Given the description of an element on the screen output the (x, y) to click on. 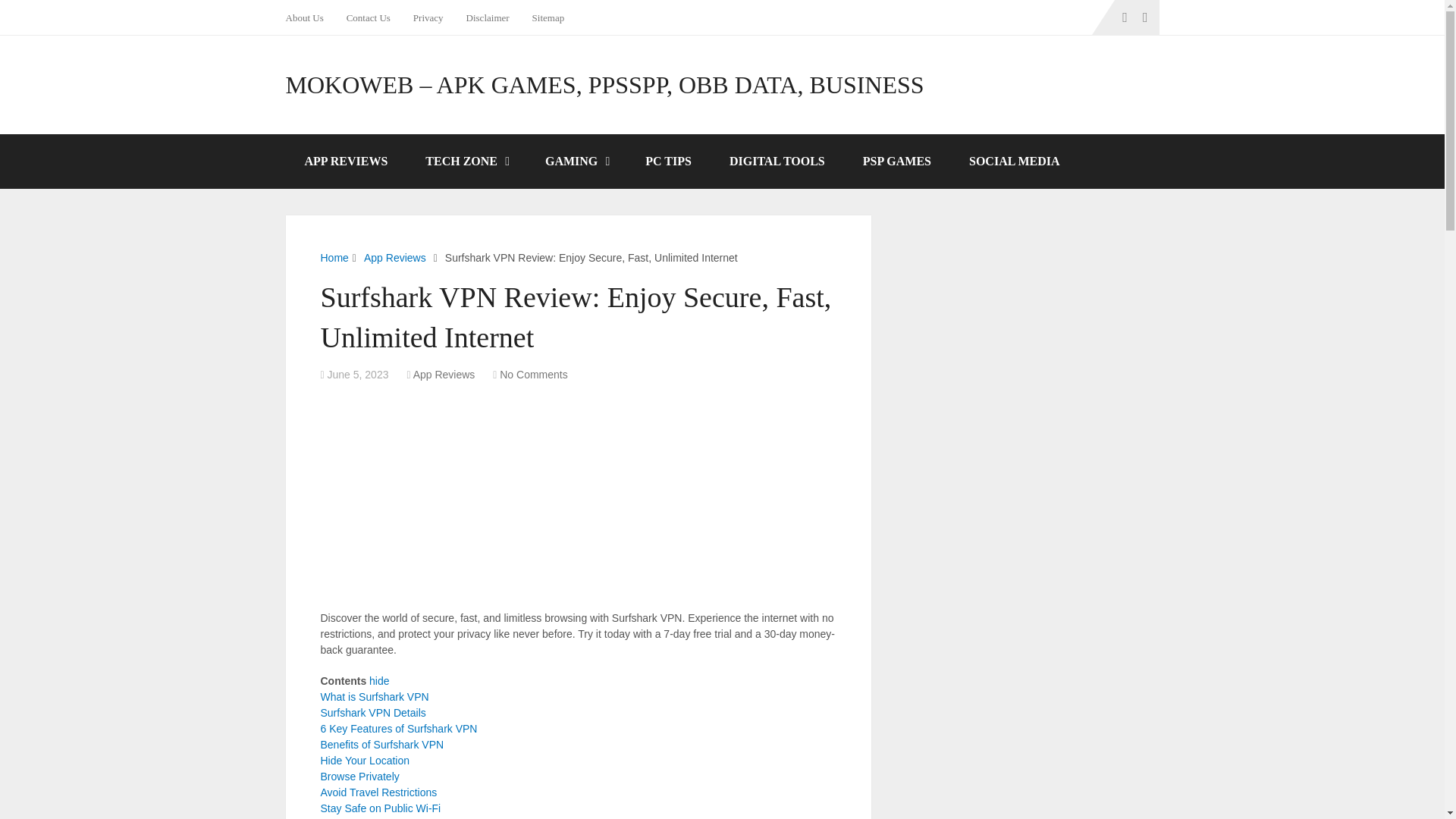
Social media Trends and Posts (1014, 161)
TECH ZONE (465, 161)
Computer Tips and Tricks. Learn More from this Page (668, 161)
6 Key Features of Surfshark VPN (398, 728)
Hide Your Location (364, 760)
SOCIAL MEDIA (1014, 161)
Surfshark VPN Details (372, 712)
hide (378, 680)
No Comments (533, 374)
Benefits of Surfshark VPN (382, 744)
Avoid Travel Restrictions (378, 792)
Contact Us (367, 17)
App Reviews (444, 374)
PPSSPP Games for Android (897, 161)
DIGITAL TOOLS (777, 161)
